Given the description of an element on the screen output the (x, y) to click on. 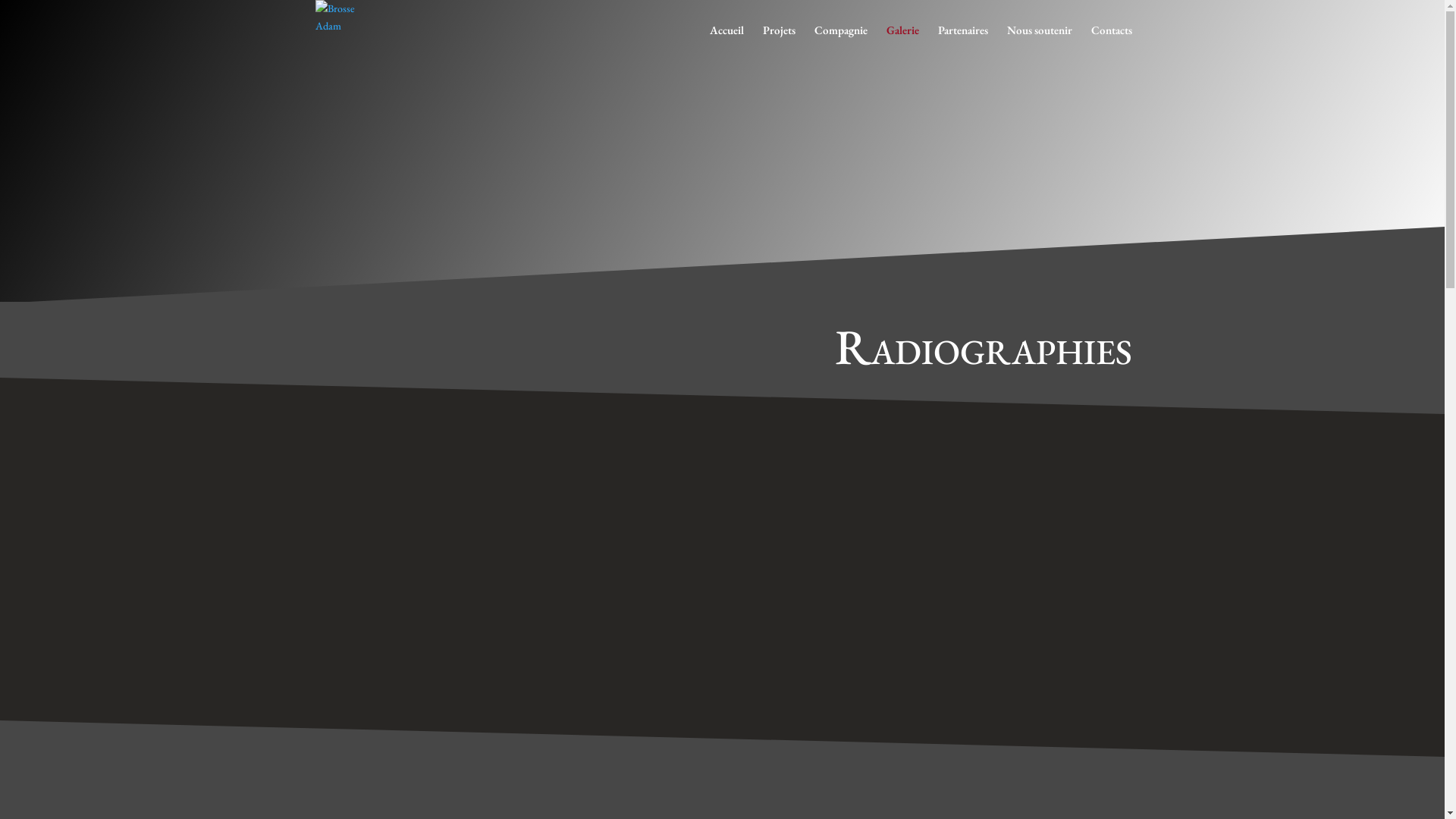
Galerie Element type: text (901, 42)
Accueil Element type: text (726, 42)
Contacts Element type: text (1110, 42)
Projets Element type: text (778, 42)
Partenaires Element type: text (962, 42)
Compagnie Element type: text (840, 42)
Nous soutenir Element type: text (1039, 42)
